Given the description of an element on the screen output the (x, y) to click on. 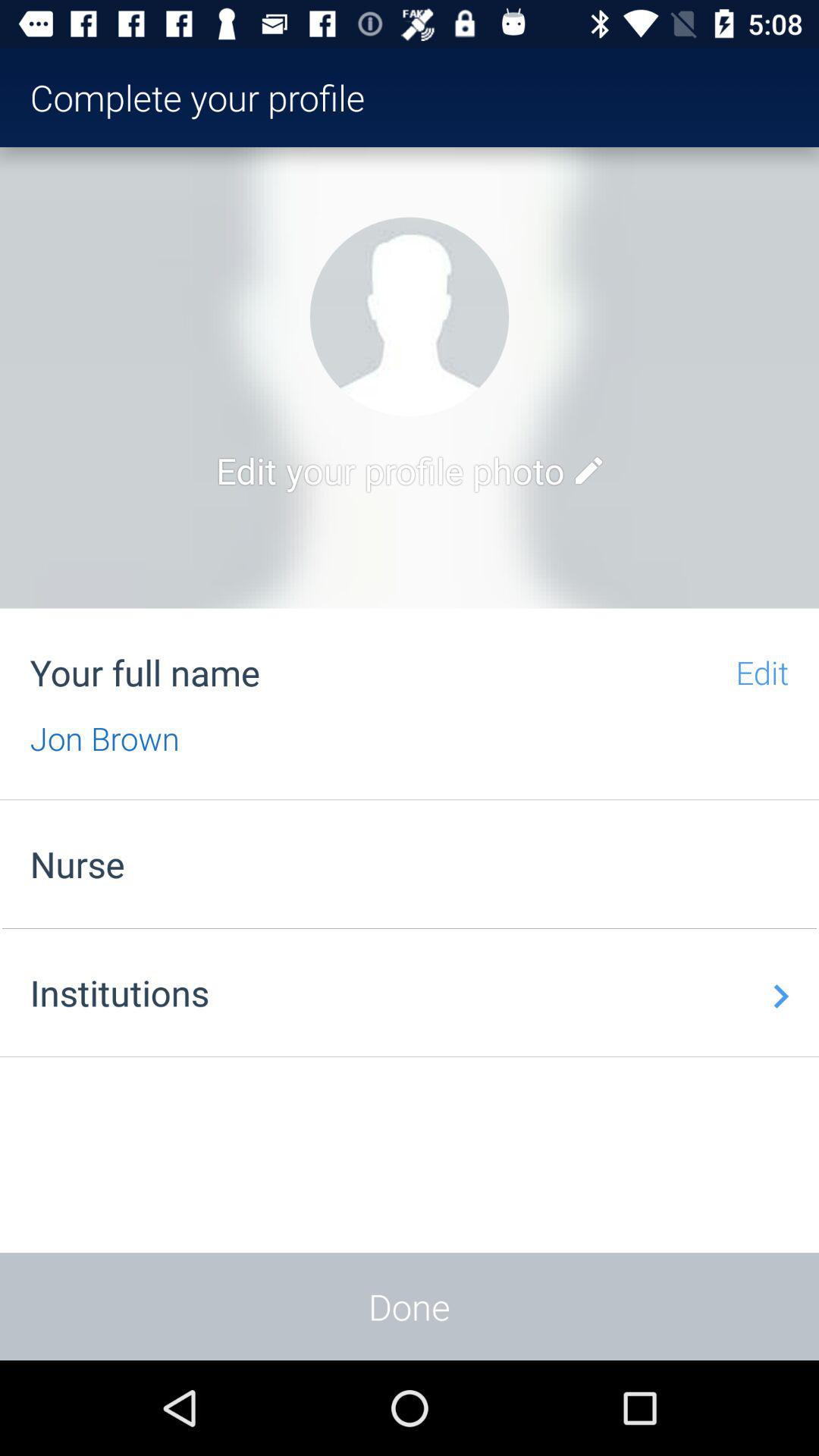
select the edit icon (588, 470)
select the icon above edit your profile photo (409, 316)
